Given the description of an element on the screen output the (x, y) to click on. 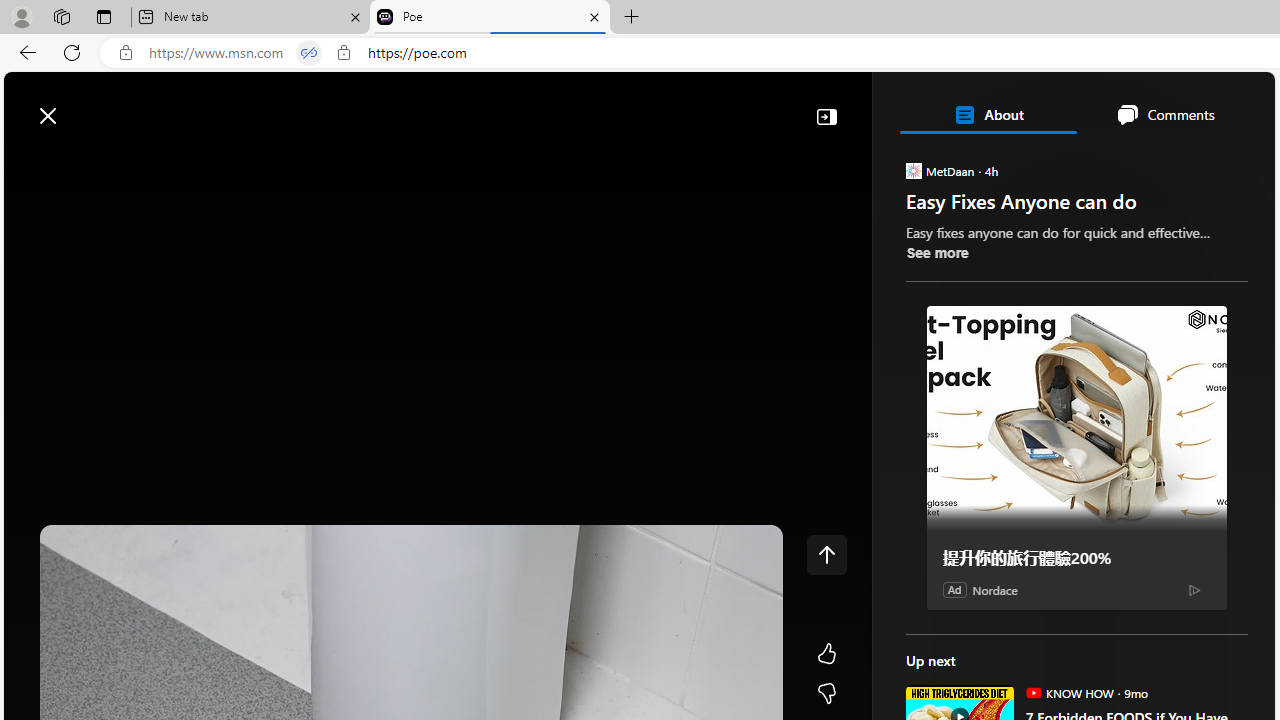
KNOW HOW KNOW HOW (1069, 692)
KNOW HOW (1033, 692)
The Associated Press (974, 645)
About (987, 114)
